Given the description of an element on the screen output the (x, y) to click on. 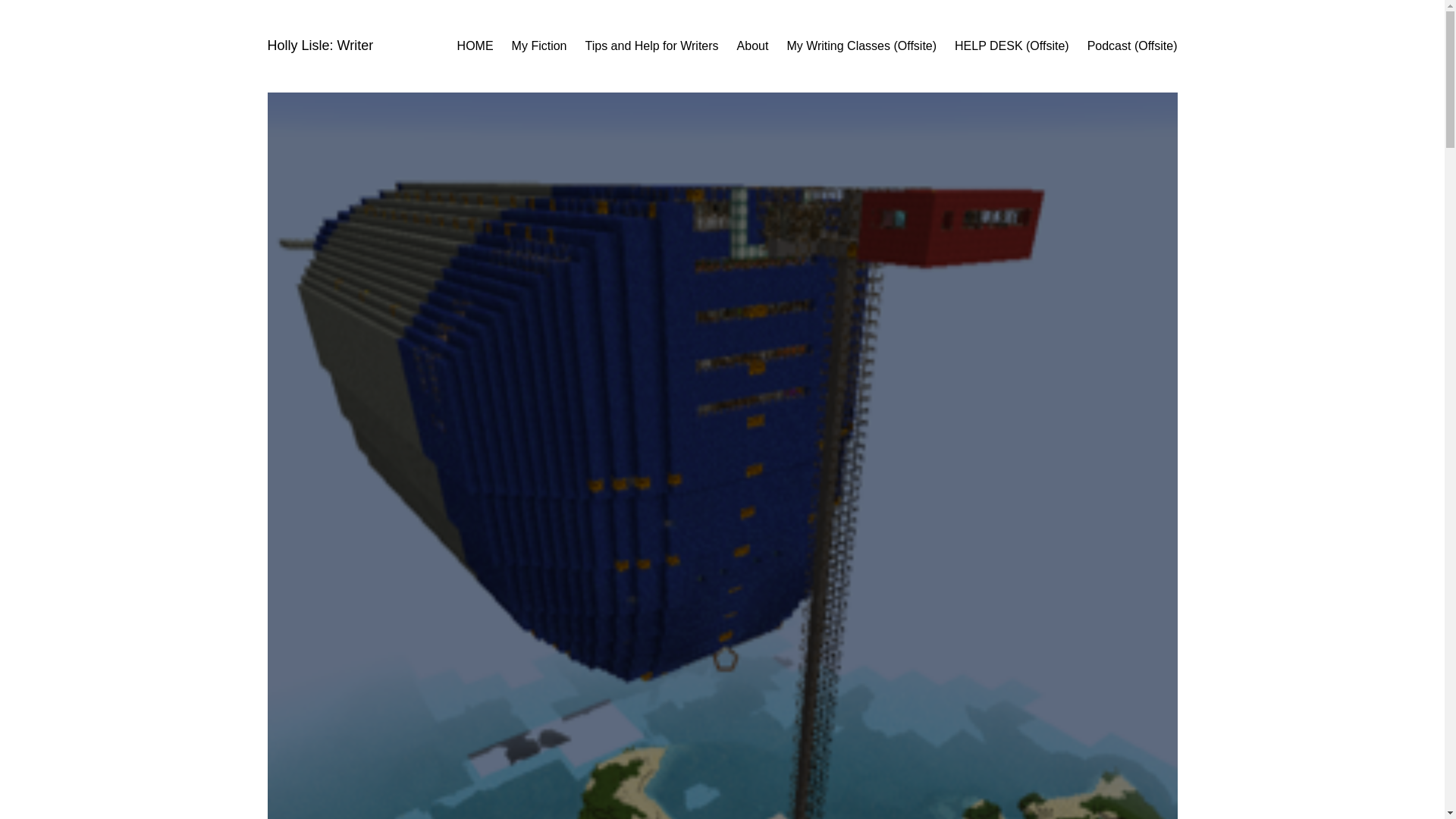
Tips and Help for Writers (652, 46)
HOME (475, 46)
Holly Lisle: Writer (319, 45)
My Fiction (539, 46)
About (752, 46)
